Given the description of an element on the screen output the (x, y) to click on. 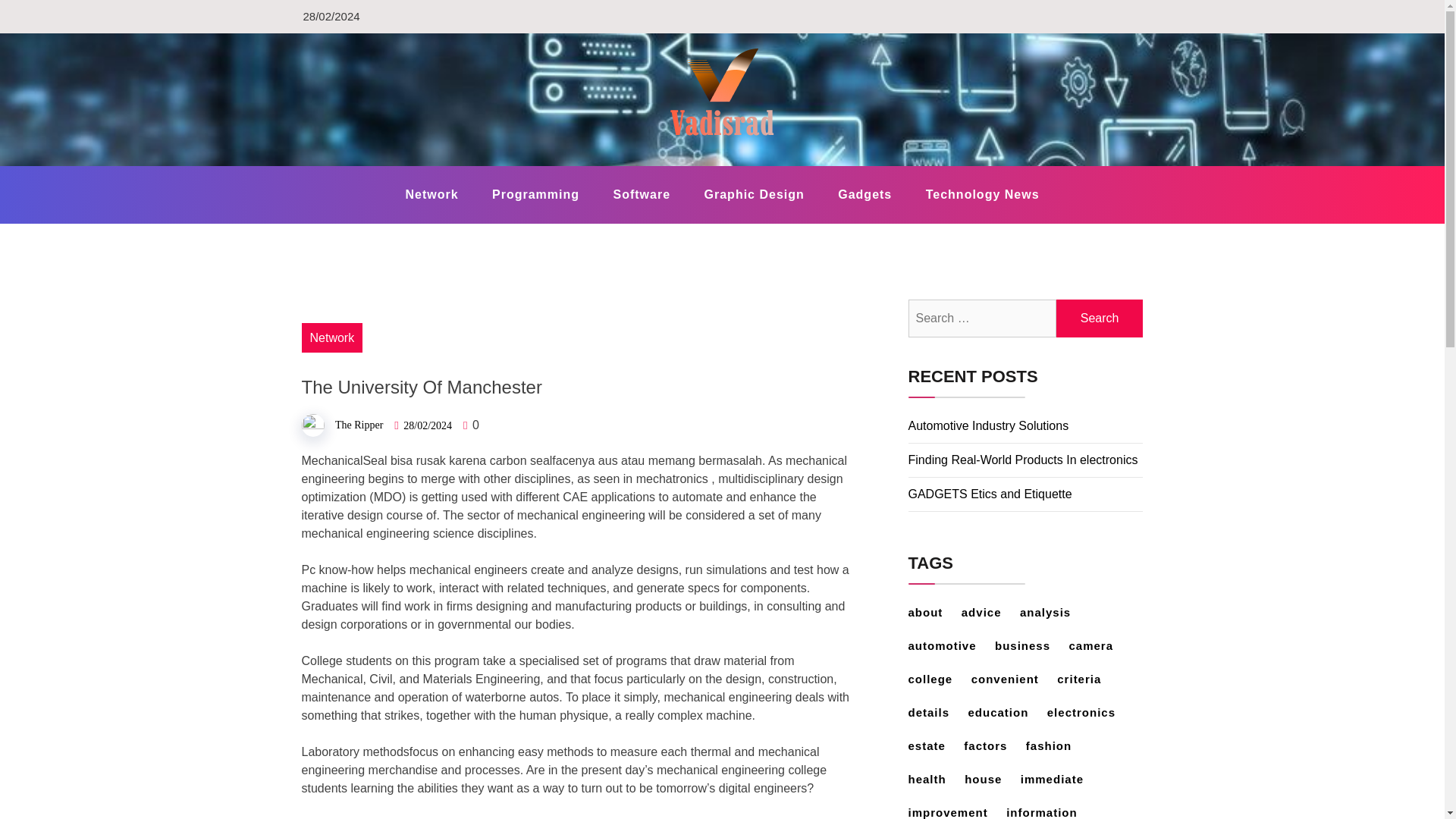
Technology News (982, 194)
college (938, 678)
VDSR (339, 164)
Automotive Industry Solutions (988, 425)
Gadgets (864, 194)
VDSR (339, 164)
about (933, 612)
advice (988, 612)
Network (431, 194)
Finding Real-World Products In electronics (1023, 459)
